Given the description of an element on the screen output the (x, y) to click on. 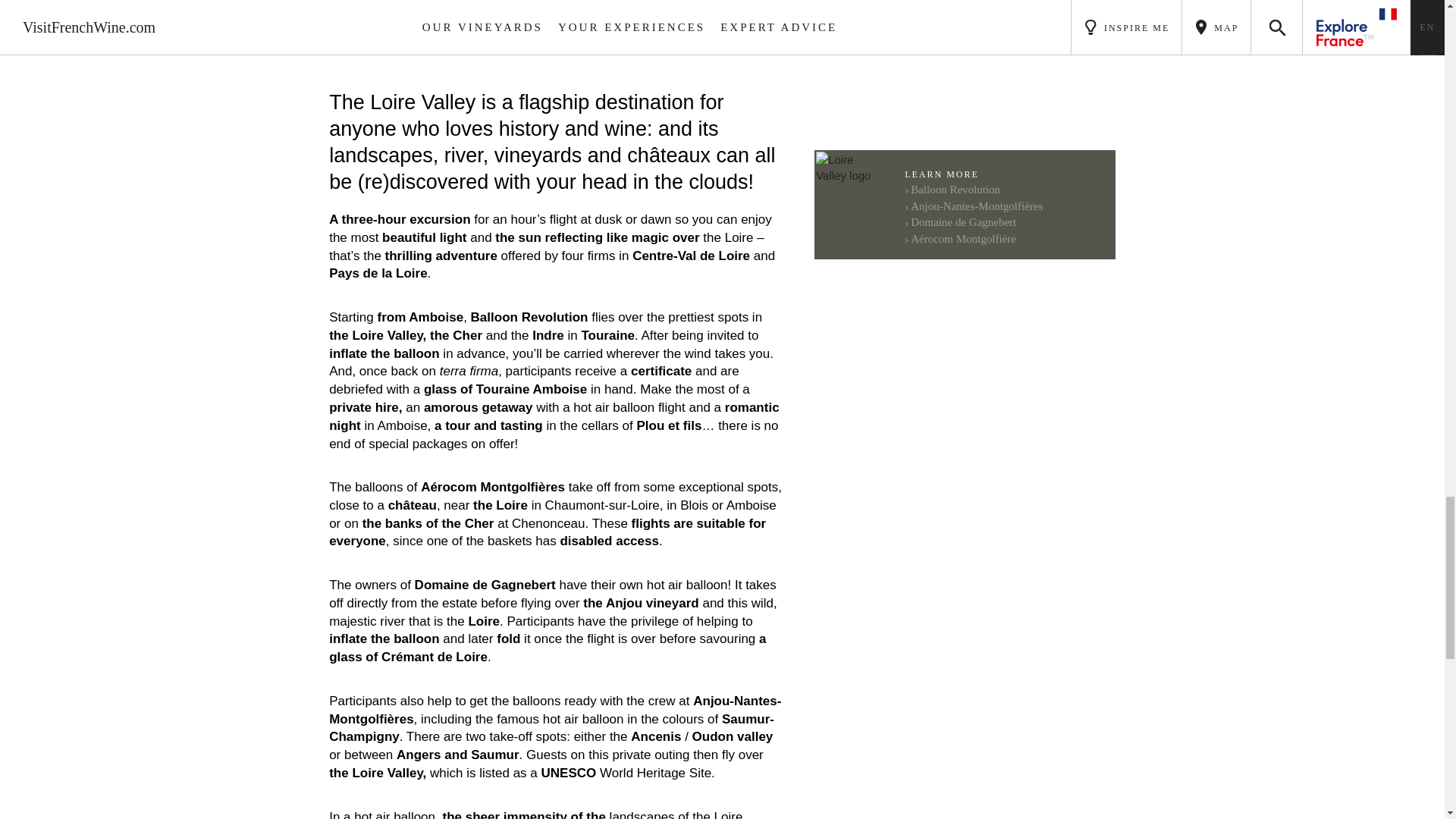
Loire Valley logo (850, 167)
Domaine de Gagnebert (960, 222)
Balloon Revolution (952, 189)
